Given the description of an element on the screen output the (x, y) to click on. 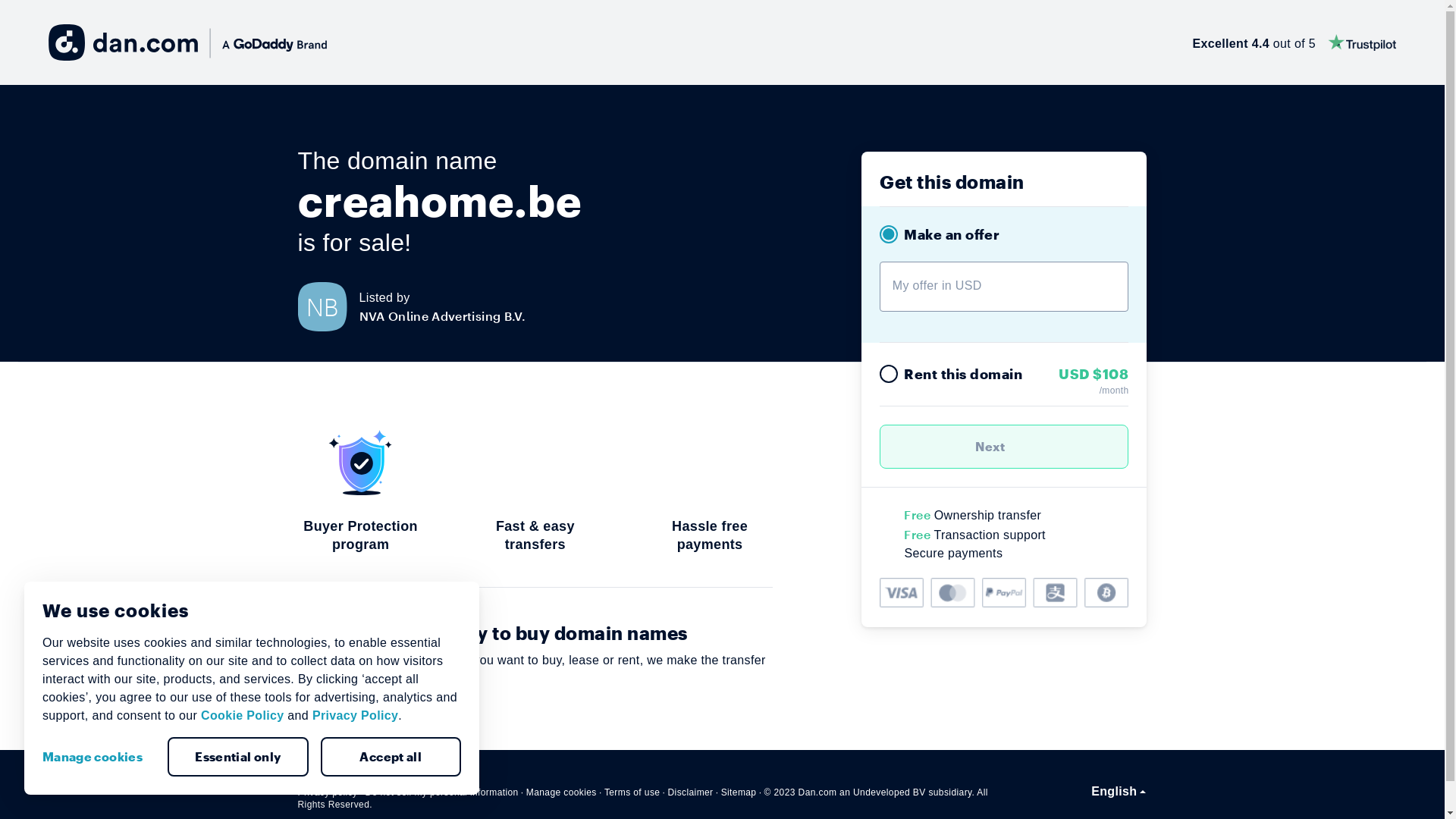
Next
) Element type: text (1003, 446)
Manage cookies Element type: text (98, 756)
Privacy Policy Element type: text (355, 715)
Cookie Policy Element type: text (241, 715)
Sitemap Element type: text (738, 792)
Essential only Element type: text (237, 756)
Excellent 4.4 out of 5 Element type: text (1294, 42)
Do not sell my personal information Element type: text (441, 792)
Accept all Element type: text (390, 756)
Terms of use Element type: text (632, 792)
Manage cookies Element type: text (561, 792)
Privacy policy Element type: text (327, 792)
Disclaimer Element type: text (689, 792)
English Element type: text (1118, 791)
